Given the description of an element on the screen output the (x, y) to click on. 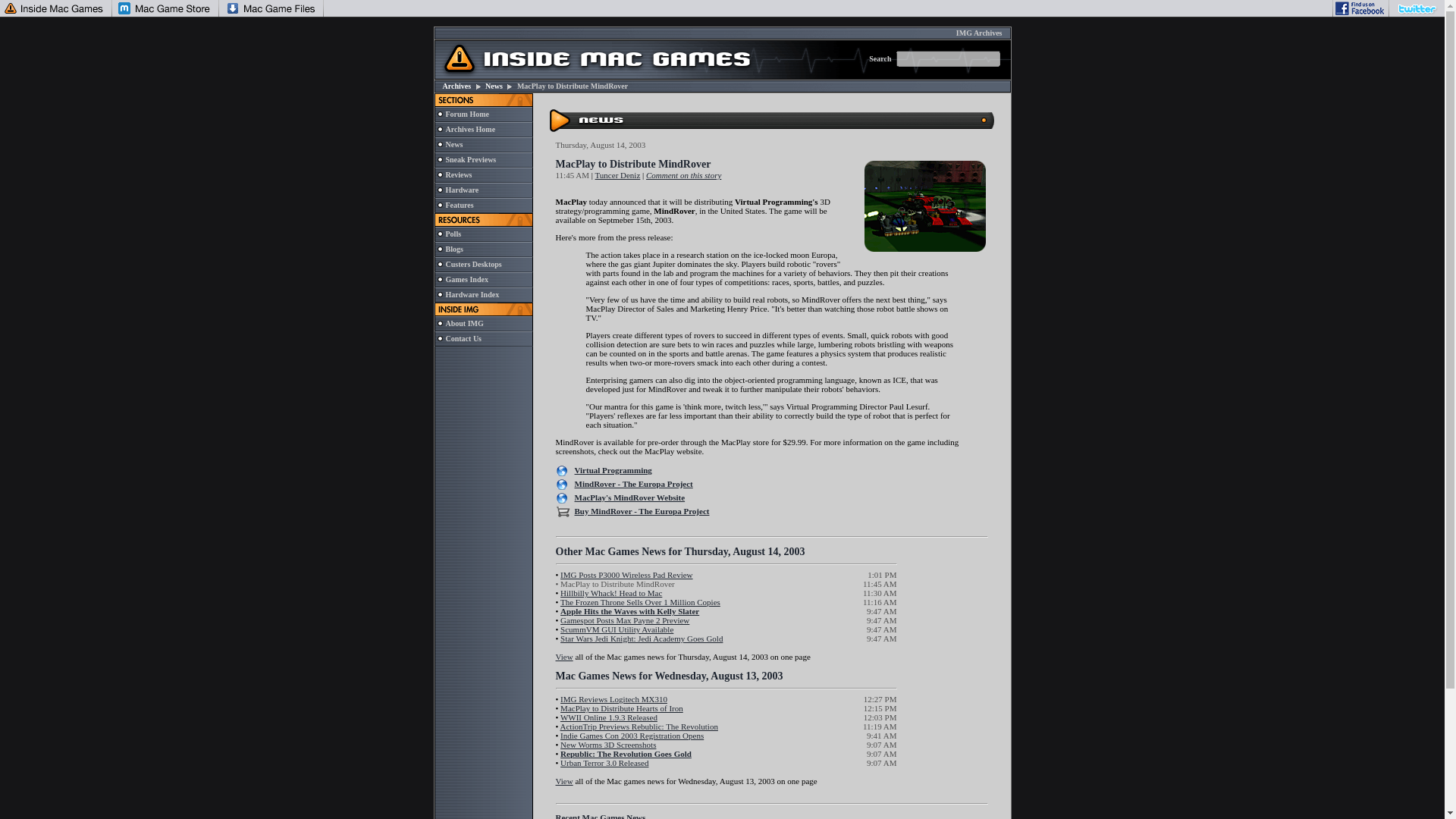
MacPlay's MindRover Website (630, 497)
IMG Posts P3000 Wireless Pad Review (626, 574)
ScummVM GUI Utility Available (616, 628)
WWII Online 1.9.3 Released (609, 716)
Archives Home (470, 129)
Hardware (462, 189)
Games Index (466, 279)
Reviews (458, 174)
Virtual Programming (613, 470)
News (454, 144)
